Given the description of an element on the screen output the (x, y) to click on. 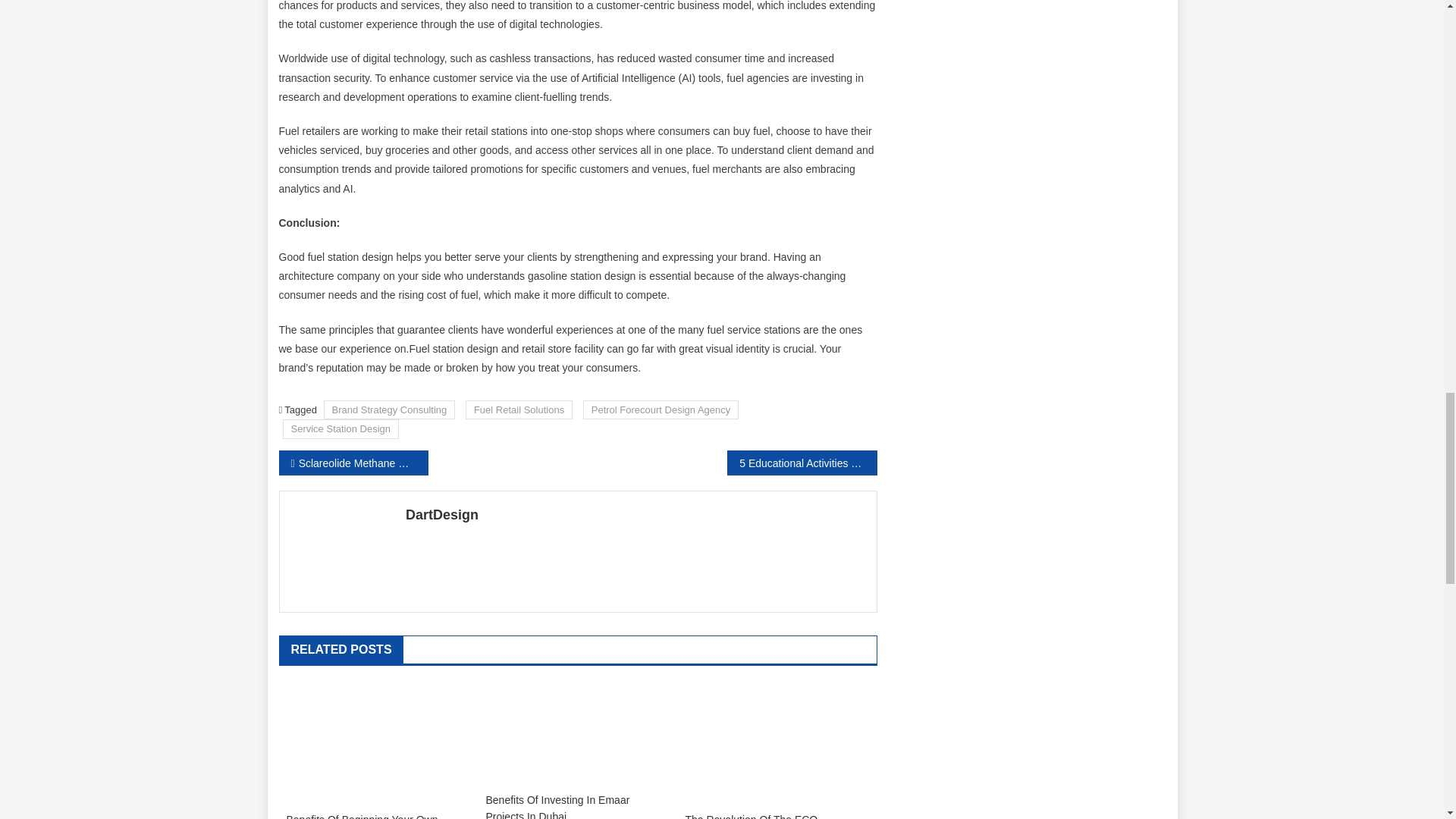
Benefits Of Investing In Emaar Projects In Dubai (576, 805)
Petrol Forecourt Design Agency (661, 409)
Fuel Retail Solutions (518, 409)
DartDesign (635, 514)
Benefits Of Beginning Your Own Business (378, 815)
Brand Strategy Consulting (389, 409)
5 Educational Activities For Children (801, 462)
Service Station Design (340, 428)
